Given the description of an element on the screen output the (x, y) to click on. 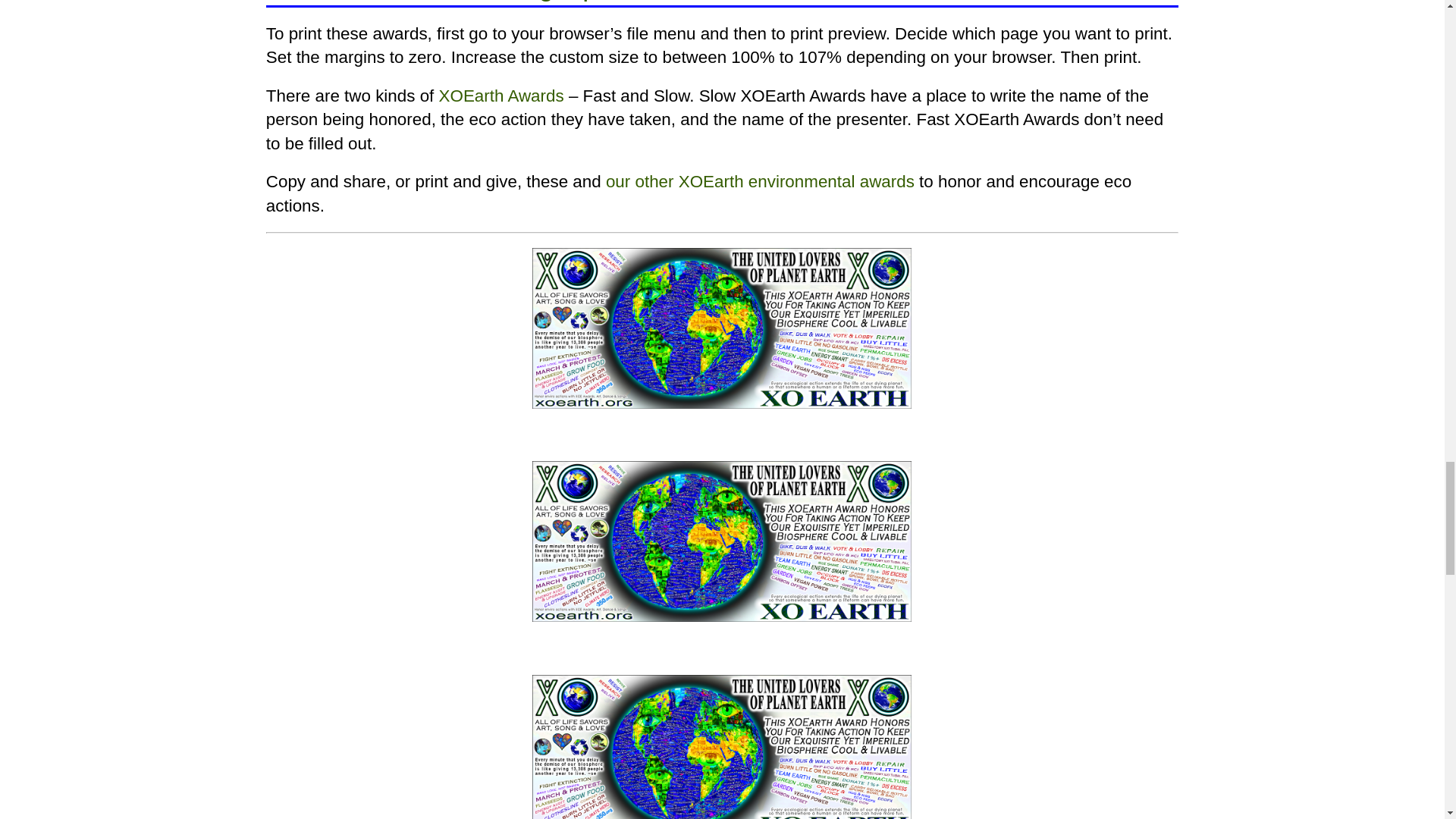
XOEarth Awards - fast (721, 540)
XOEarth Awards - fast (721, 746)
XOEarth Awards - fast (721, 327)
